Given the description of an element on the screen output the (x, y) to click on. 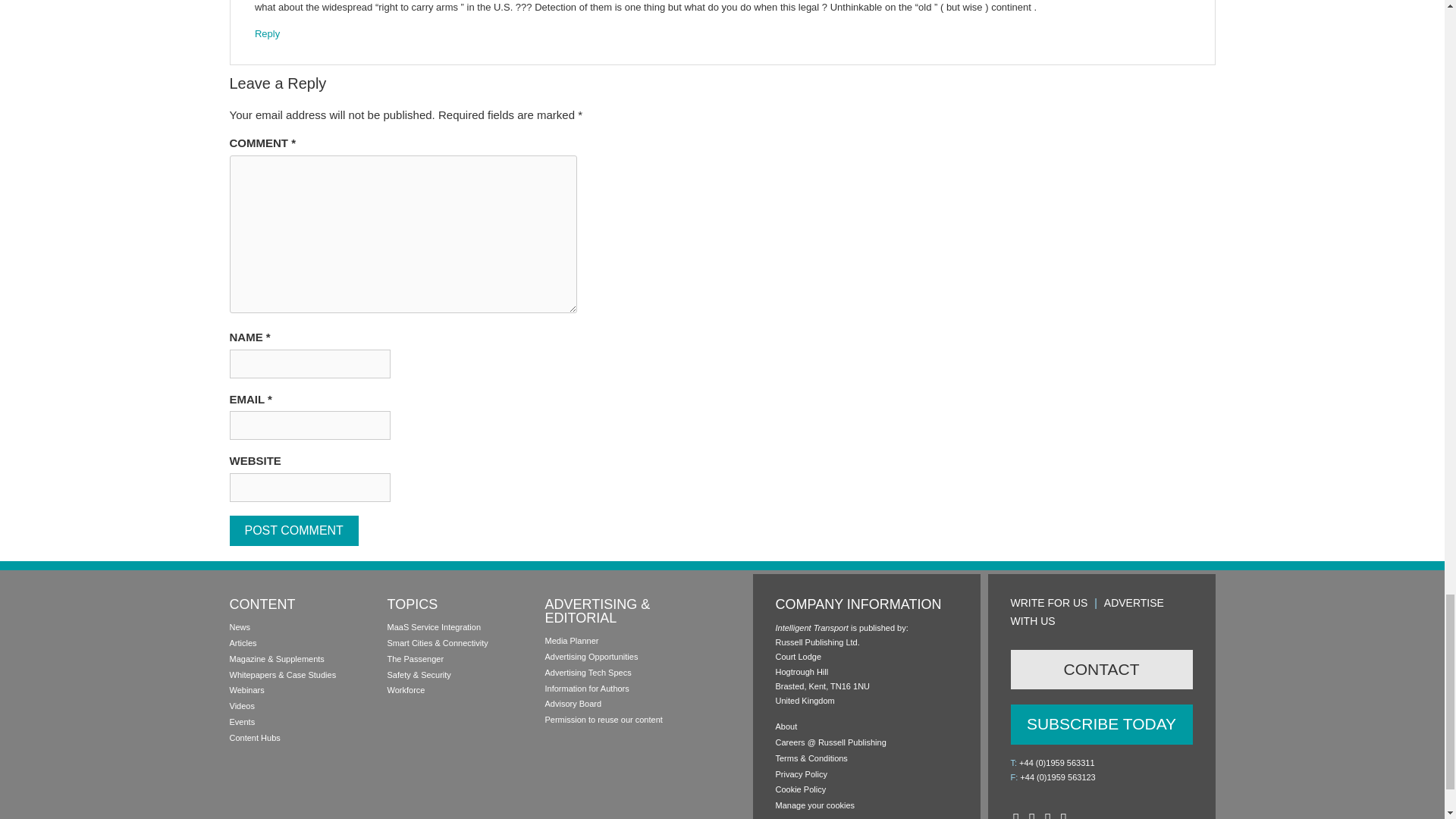
Post Comment (293, 530)
